Given the description of an element on the screen output the (x, y) to click on. 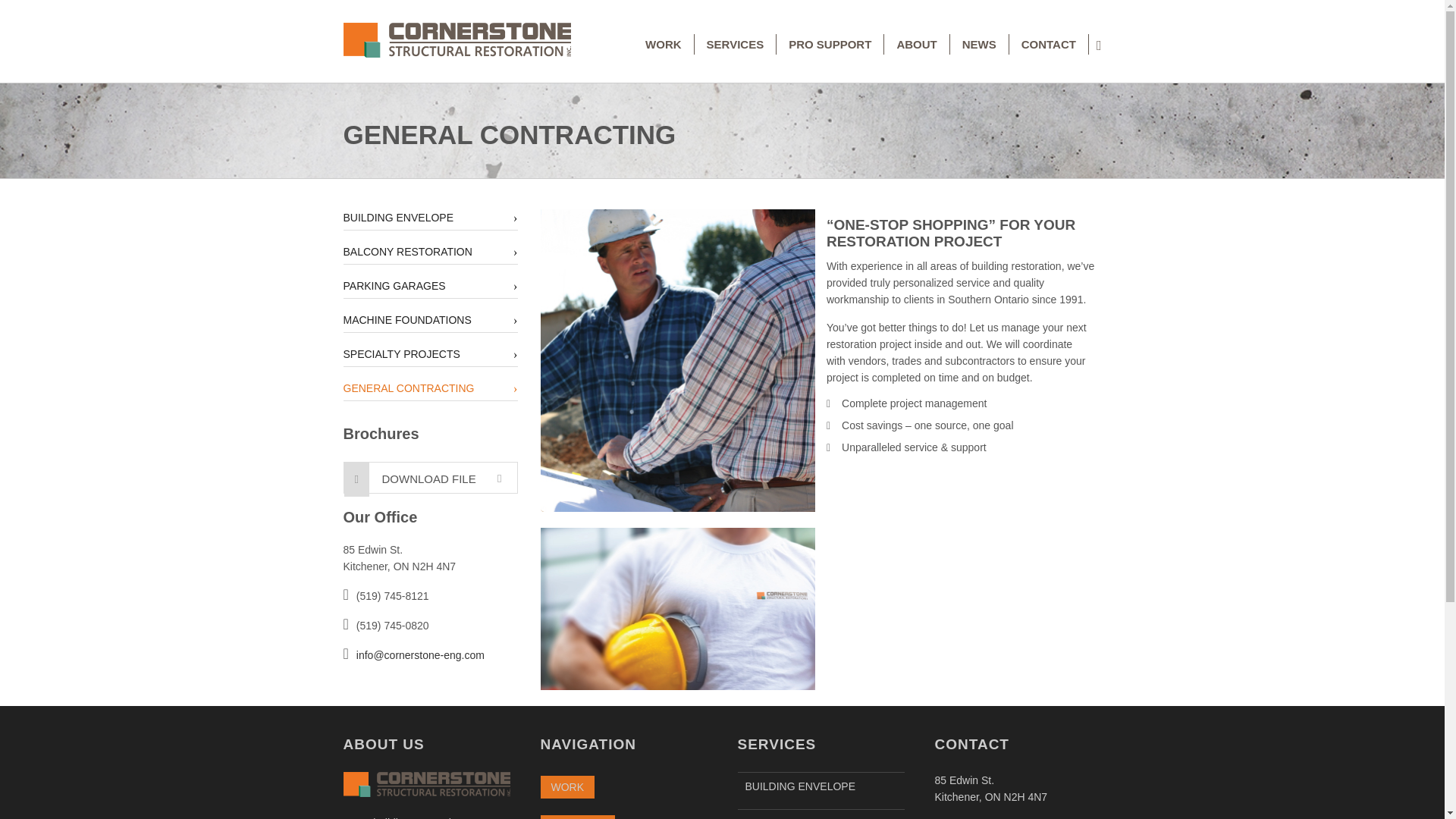
MACHINE FOUNDATIONS (429, 319)
WORK (567, 786)
SERVICES (735, 44)
PRO SUPPORT (829, 44)
PARKING GARAGES (429, 285)
BALCONY RESTORATION (820, 814)
SPECIALTY PROJECTS (429, 353)
BUILDING ENVELOPE (820, 786)
BUILDING ENVELOPE (429, 217)
ABOUT (916, 44)
SERVICES (577, 816)
BALCONY RESTORATION (429, 251)
DOWNLOAD FILE (429, 477)
NEWS (979, 44)
GENERAL CONTRACTING (429, 388)
